Given the description of an element on the screen output the (x, y) to click on. 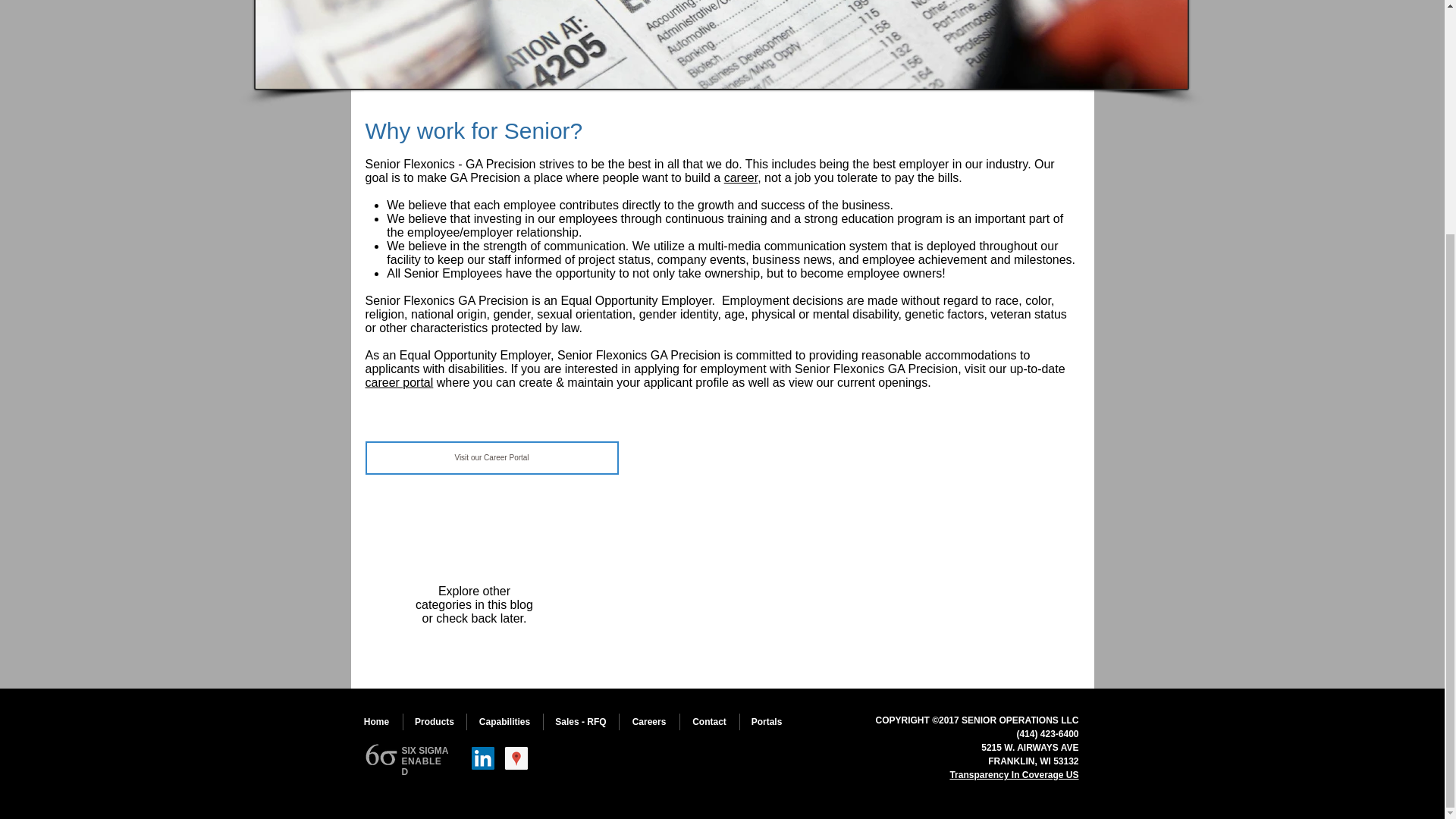
Contact (708, 721)
Sales - RFQ (580, 721)
Products (434, 721)
Visit our Career Portal (491, 458)
Portals (766, 721)
Careers (648, 721)
Capabilities (505, 721)
Home (375, 721)
career portal (399, 382)
